Given the description of an element on the screen output the (x, y) to click on. 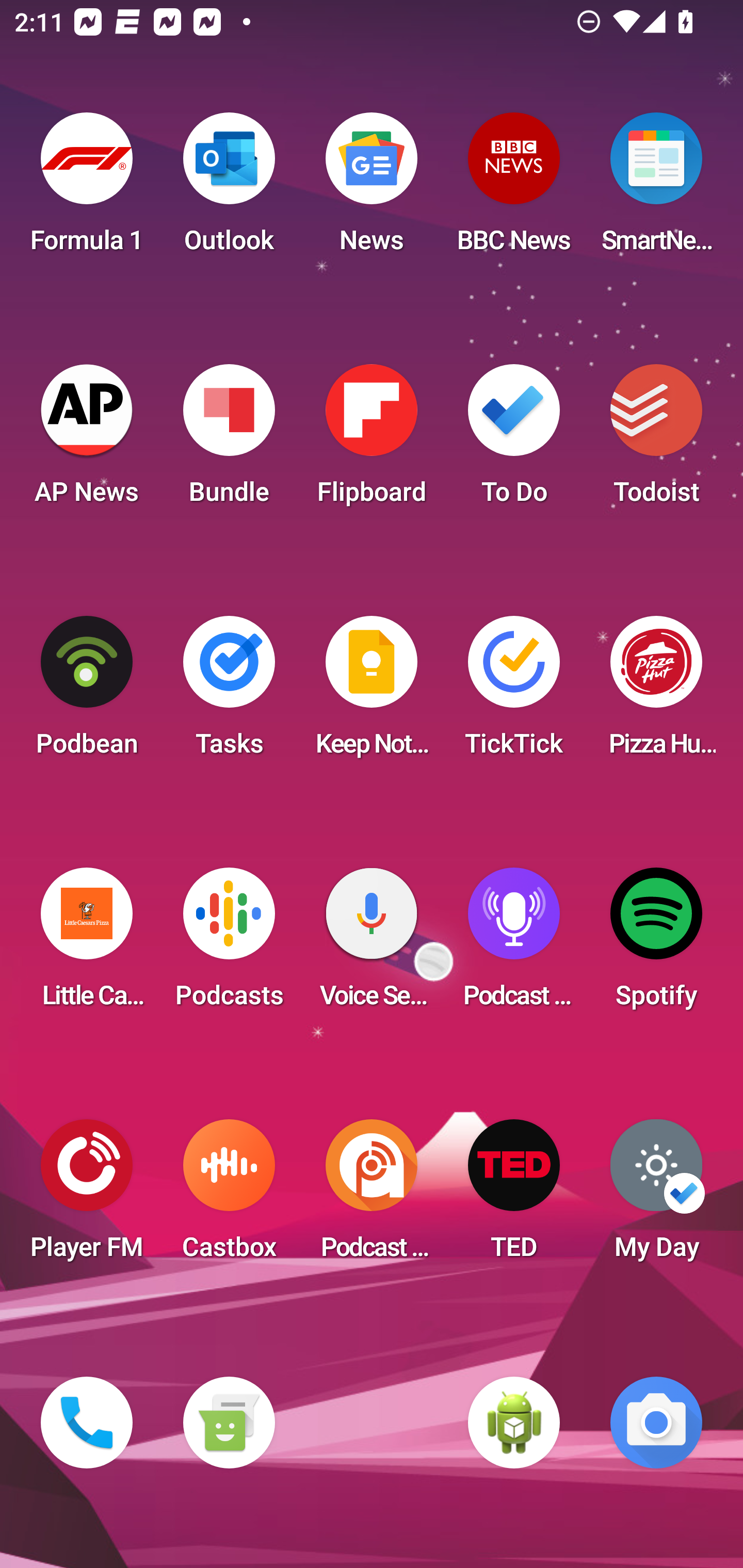
Formula 1 (86, 188)
Outlook (228, 188)
News (371, 188)
BBC News (513, 188)
SmartNews (656, 188)
AP News (86, 440)
Bundle (228, 440)
Flipboard (371, 440)
To Do (513, 440)
Todoist (656, 440)
Podbean (86, 692)
Tasks (228, 692)
Keep Notes (371, 692)
TickTick (513, 692)
Pizza Hut HK & Macau (656, 692)
Little Caesars Pizza (86, 943)
Podcasts (228, 943)
Voice Search (371, 943)
Podcast Player (513, 943)
Spotify (656, 943)
Player FM (86, 1195)
Castbox (228, 1195)
Podcast Addict (371, 1195)
TED (513, 1195)
My Day (656, 1195)
Phone (86, 1422)
Messaging (228, 1422)
WebView Browser Tester (513, 1422)
Camera (656, 1422)
